Given the description of an element on the screen output the (x, y) to click on. 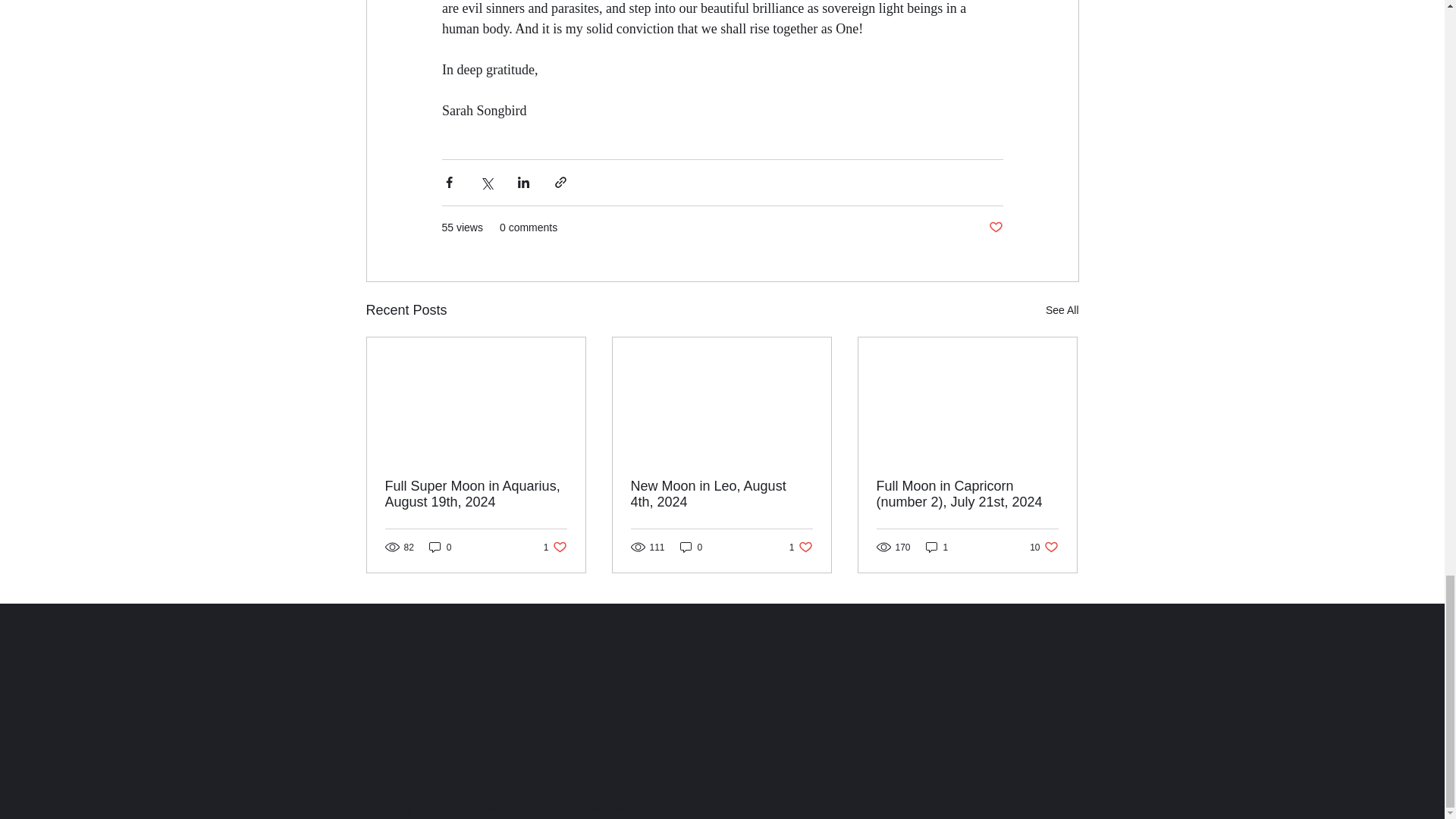
Full Super Moon in Aquarius, August 19th, 2024 (476, 494)
New Moon in Leo, August 4th, 2024 (721, 494)
Post not marked as liked (995, 227)
0 (691, 546)
1 (555, 546)
See All (800, 546)
0 (1043, 546)
